Given the description of an element on the screen output the (x, y) to click on. 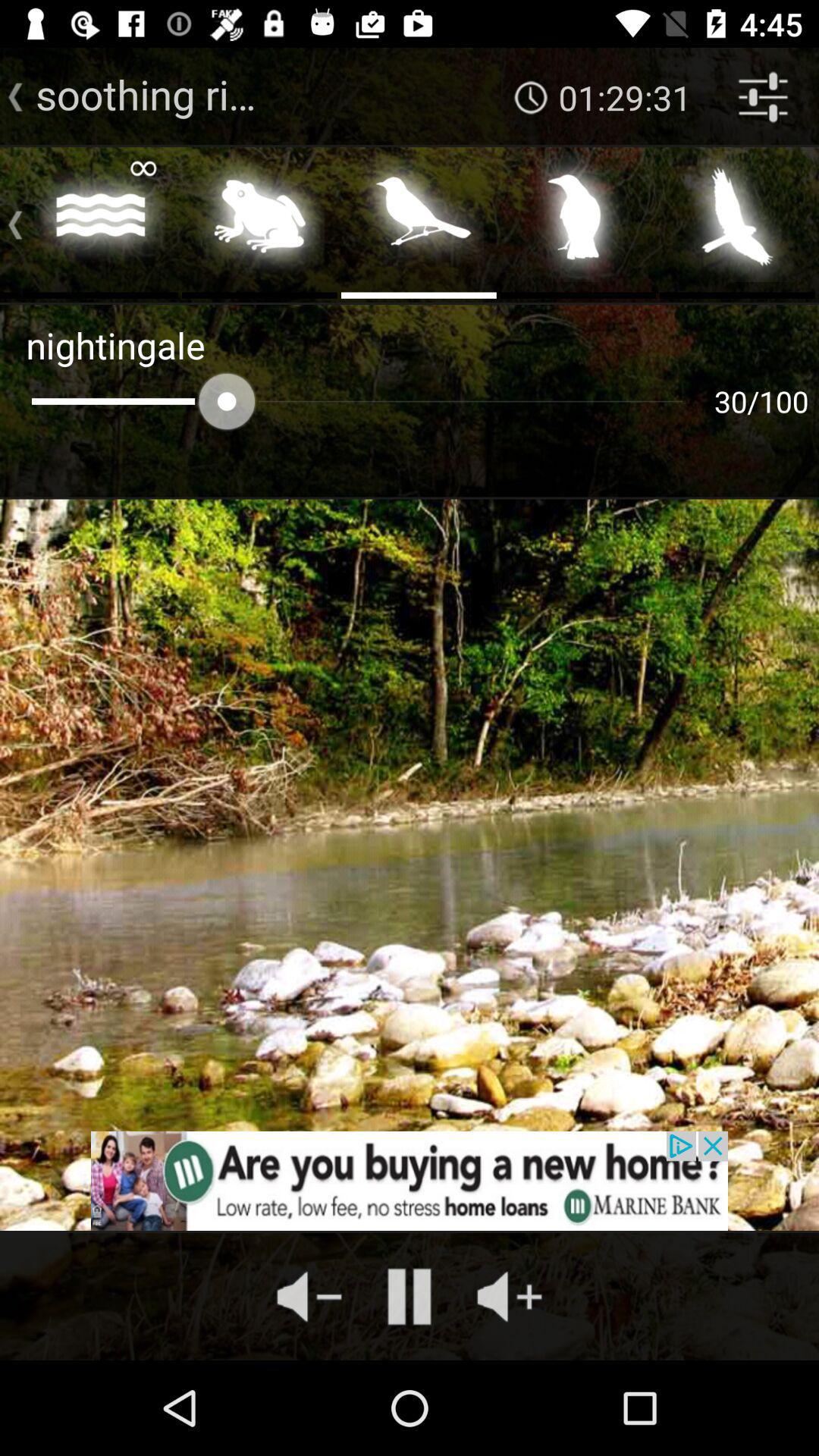
go to an advertisement (409, 1180)
